Given the description of an element on the screen output the (x, y) to click on. 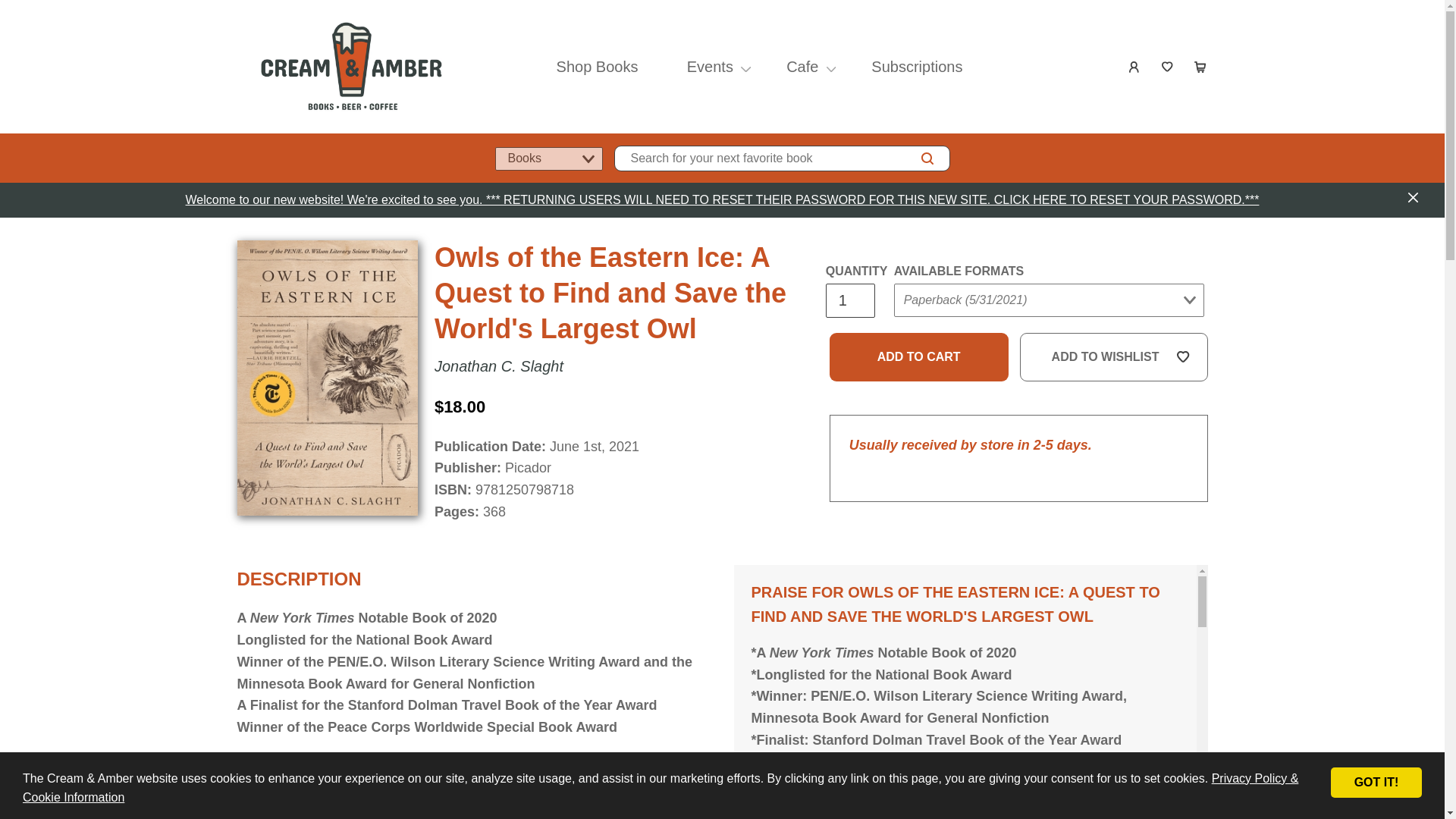
Submit (922, 329)
Add to cart (919, 356)
EVENTS SUB-NAVIGATION (746, 66)
1 (850, 300)
Shop Books (596, 66)
CAFE SUB-NAVIGATION (831, 66)
Cafe (802, 66)
Cart (1201, 66)
SEARCH (926, 158)
Wishlists (1168, 66)
Add to cart (919, 356)
Events (709, 66)
Wishlist (1168, 66)
Cart (1201, 66)
Log in (1134, 66)
